Given the description of an element on the screen output the (x, y) to click on. 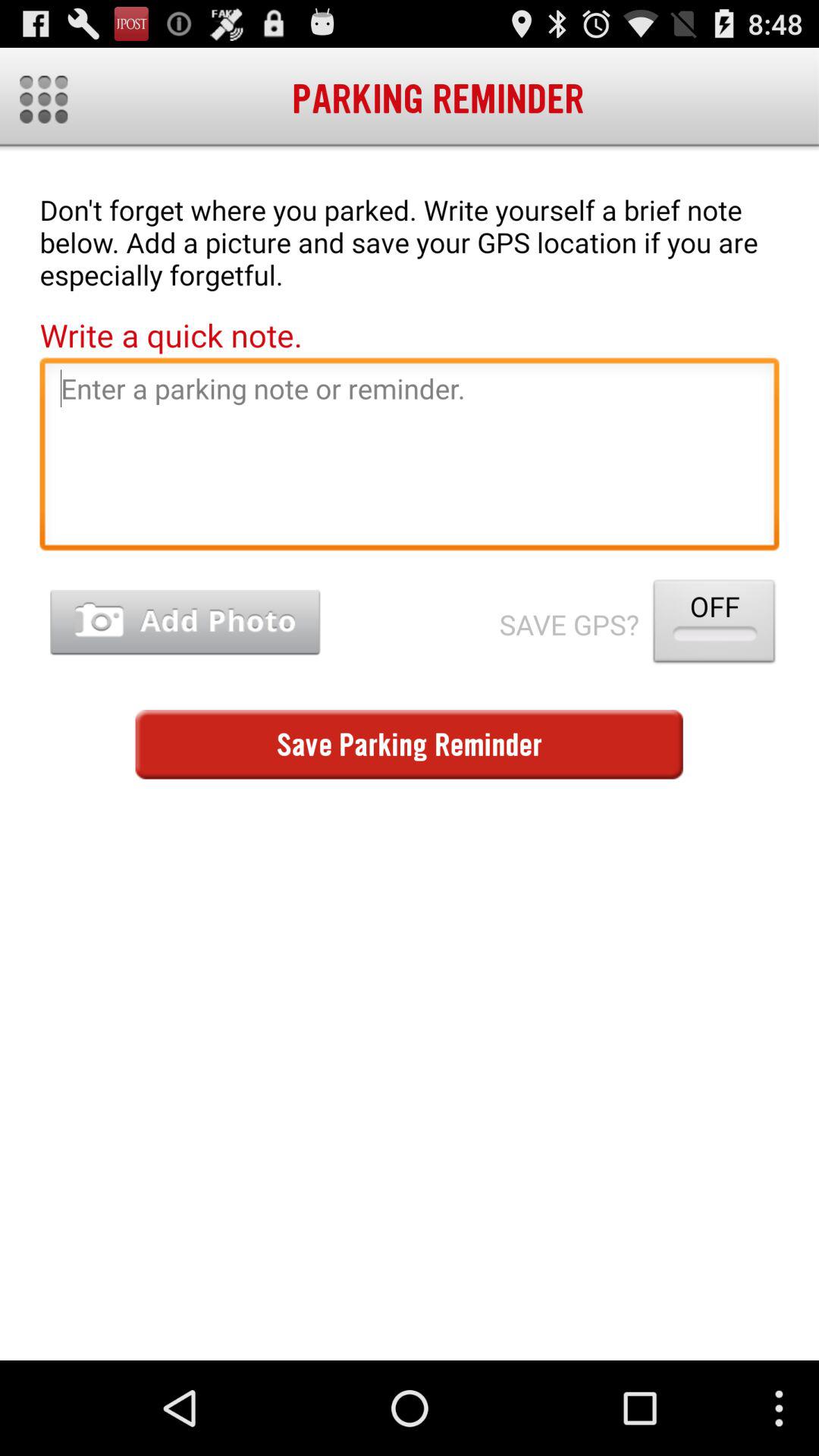
select the button above save parking reminder button (714, 624)
